Given the description of an element on the screen output the (x, y) to click on. 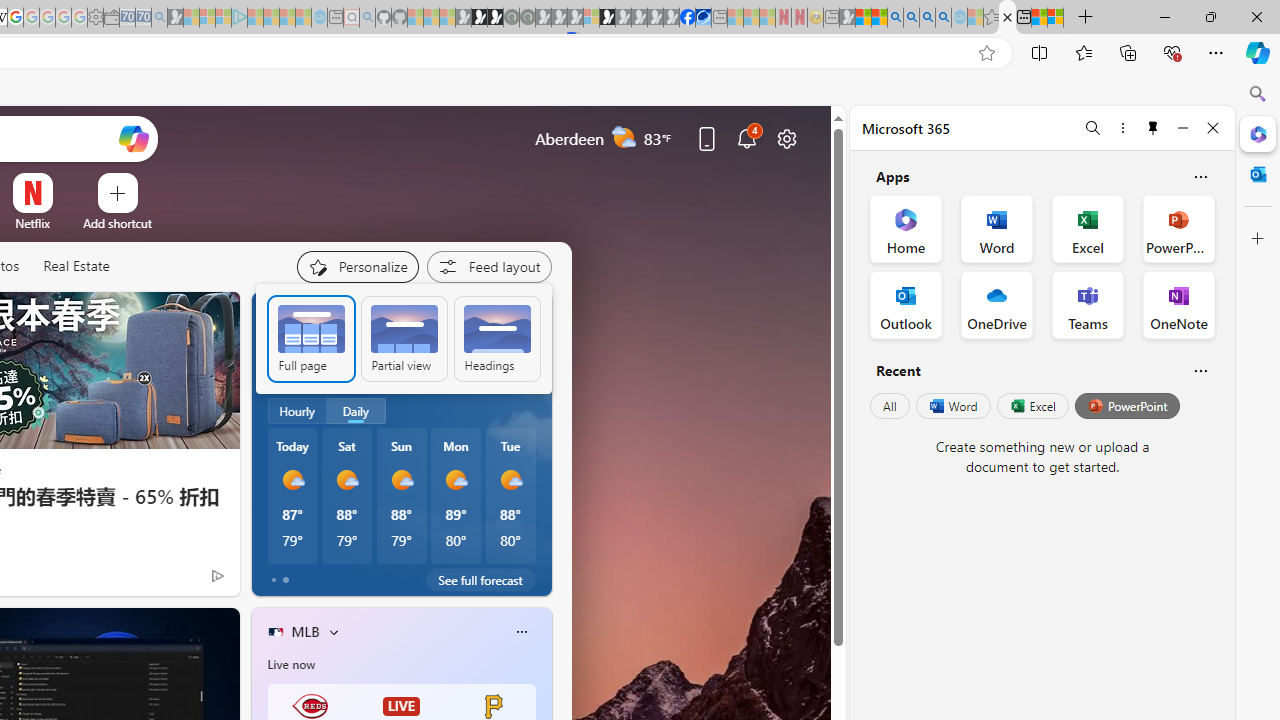
Favorites - Sleeping (991, 17)
Aberdeen (298, 315)
2009 Bing officially replaced Live Search on June 3 - Search (911, 17)
Bing AI - Search (895, 17)
Add a site (117, 223)
PowerPoint Office App (1178, 228)
OneNote Office App (1178, 304)
